Given the description of an element on the screen output the (x, y) to click on. 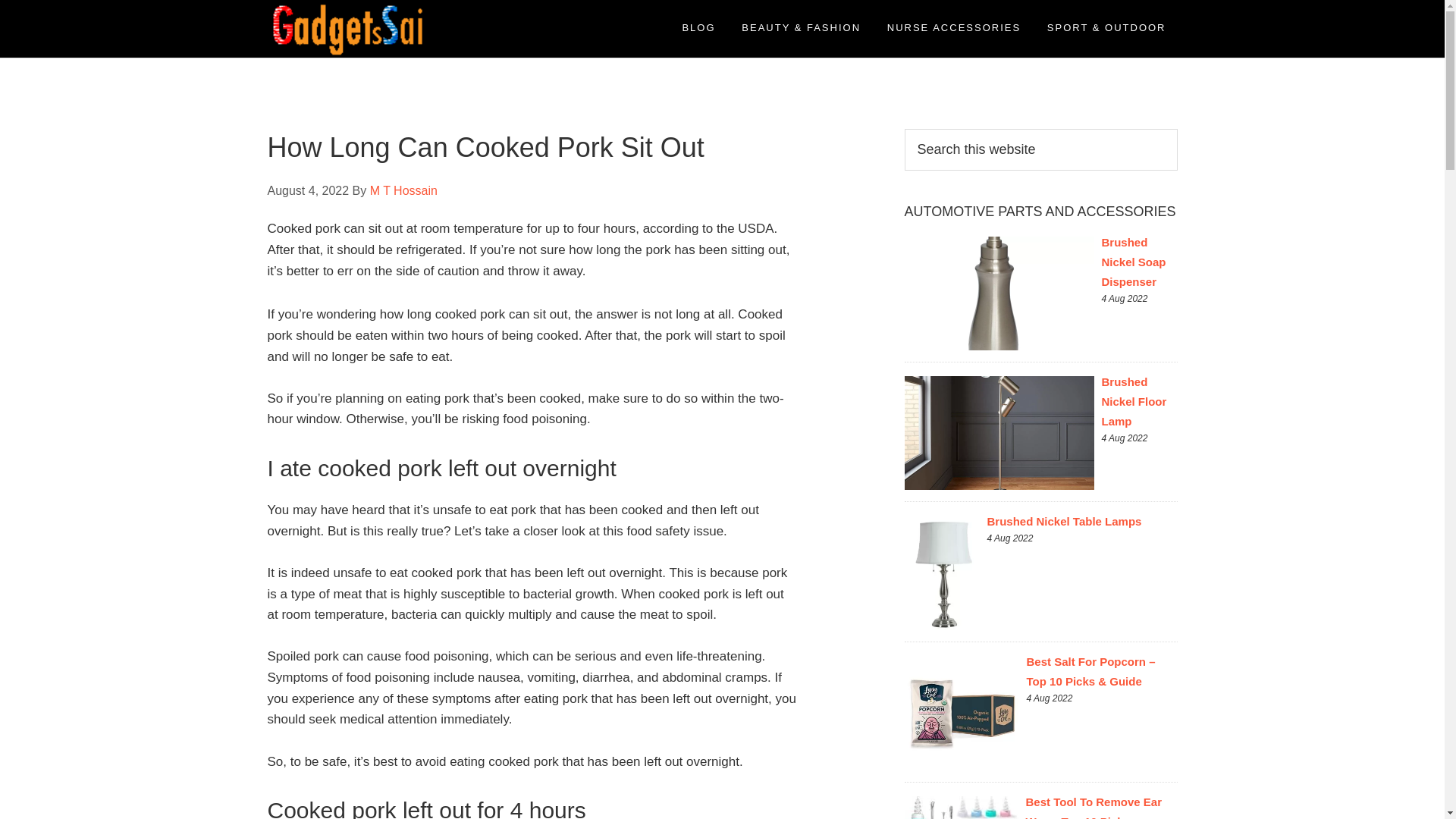
AUTOMOTIVE PARTS AND ACCESSORIES (1039, 211)
Brushed Nickel Soap Dispenser (1133, 261)
BLOG (697, 27)
Brushed Nickel Floor Lamp (1133, 401)
NURSE ACCESSORIES (954, 27)
Brushed Nickel Floor Lamp (1133, 401)
GadgetsSai (403, 28)
